Given the description of an element on the screen output the (x, y) to click on. 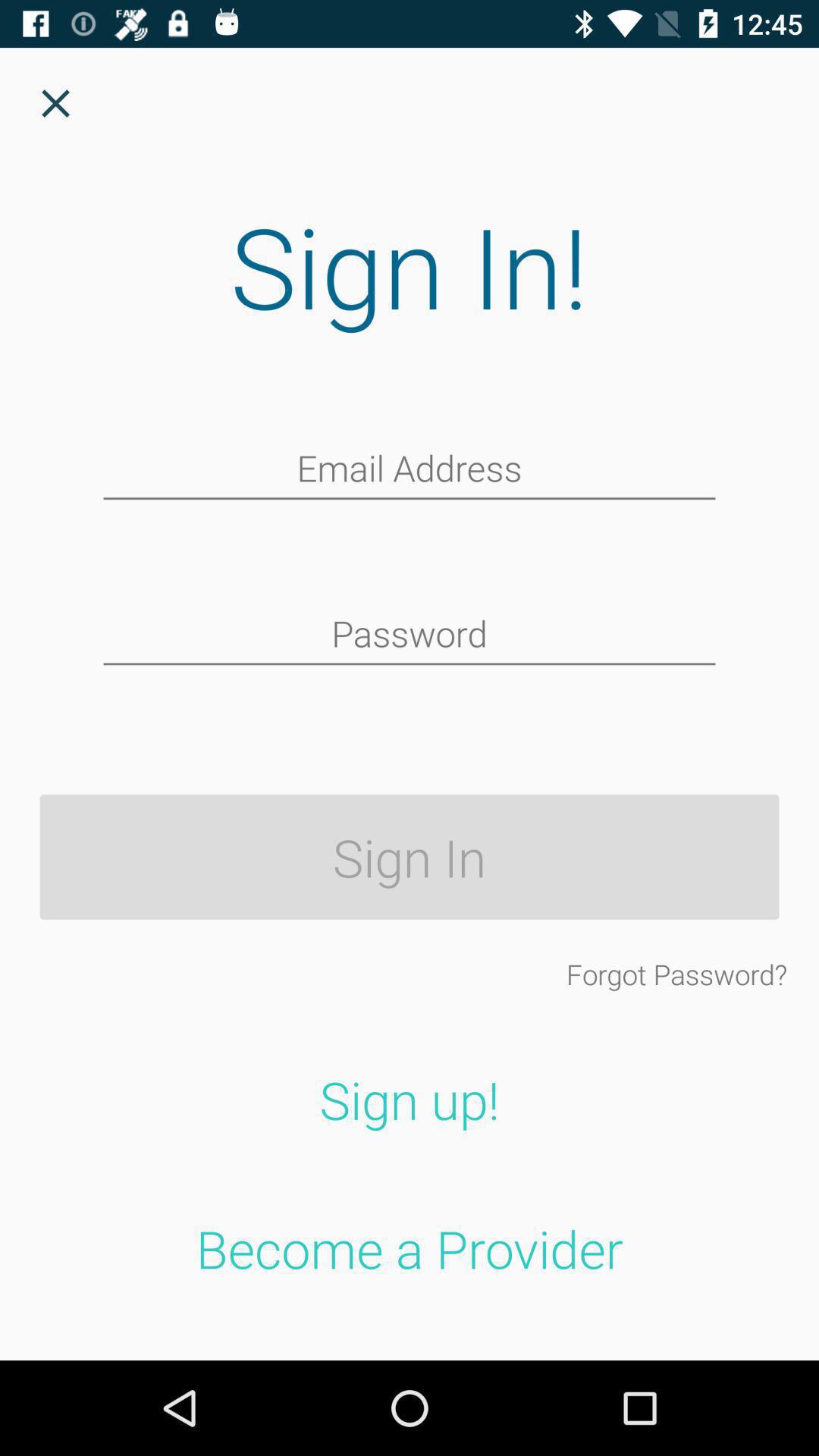
type password (409, 635)
